Given the description of an element on the screen output the (x, y) to click on. 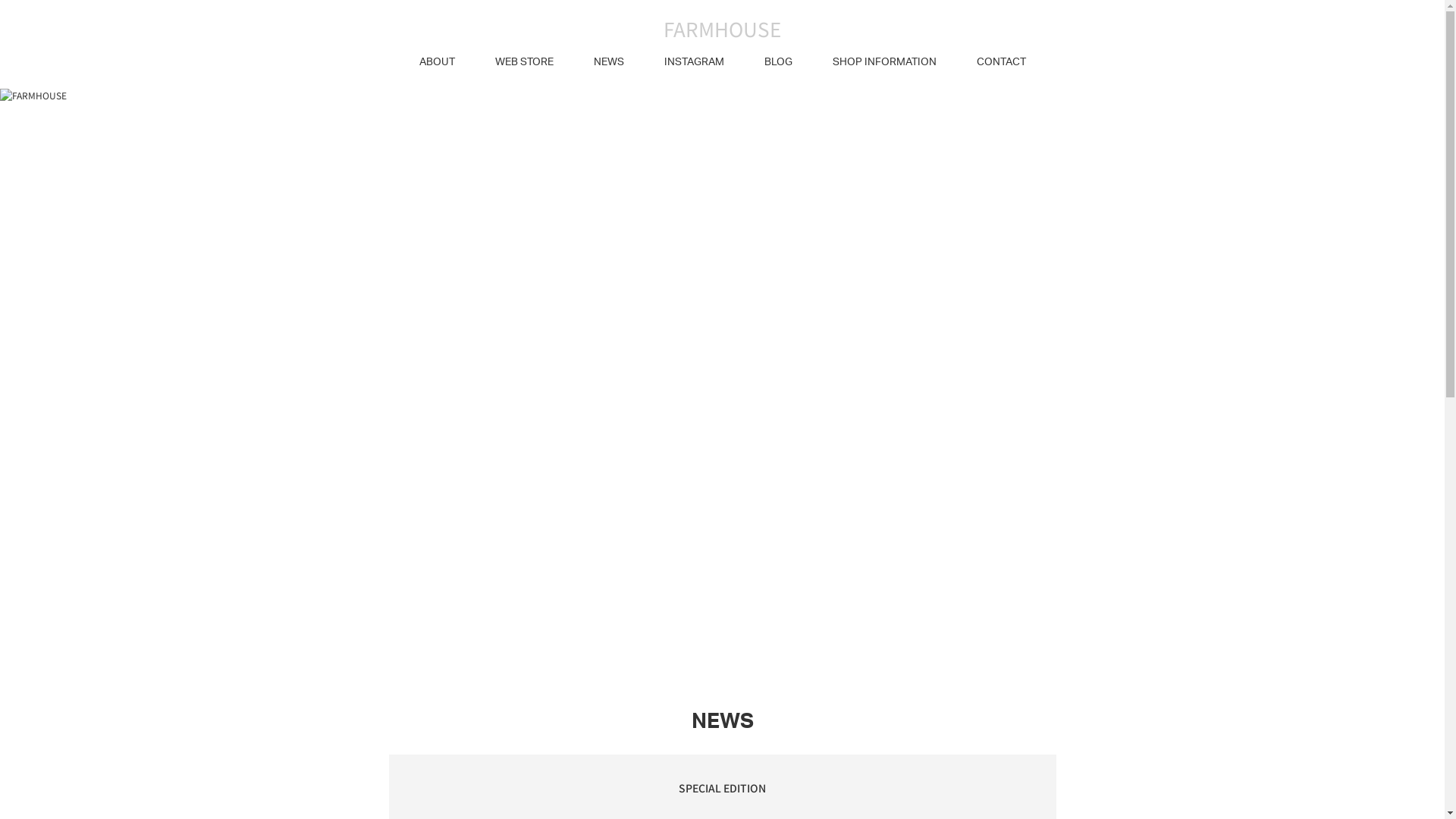
ABOUT Element type: text (436, 61)
CONTACT Element type: text (1001, 61)
WEB STORE Element type: text (523, 61)
BLOG Element type: text (778, 61)
INSTAGRAM Element type: text (694, 61)
NEWS Element type: text (608, 61)
SHOP INFORMATION Element type: text (884, 61)
